Given the description of an element on the screen output the (x, y) to click on. 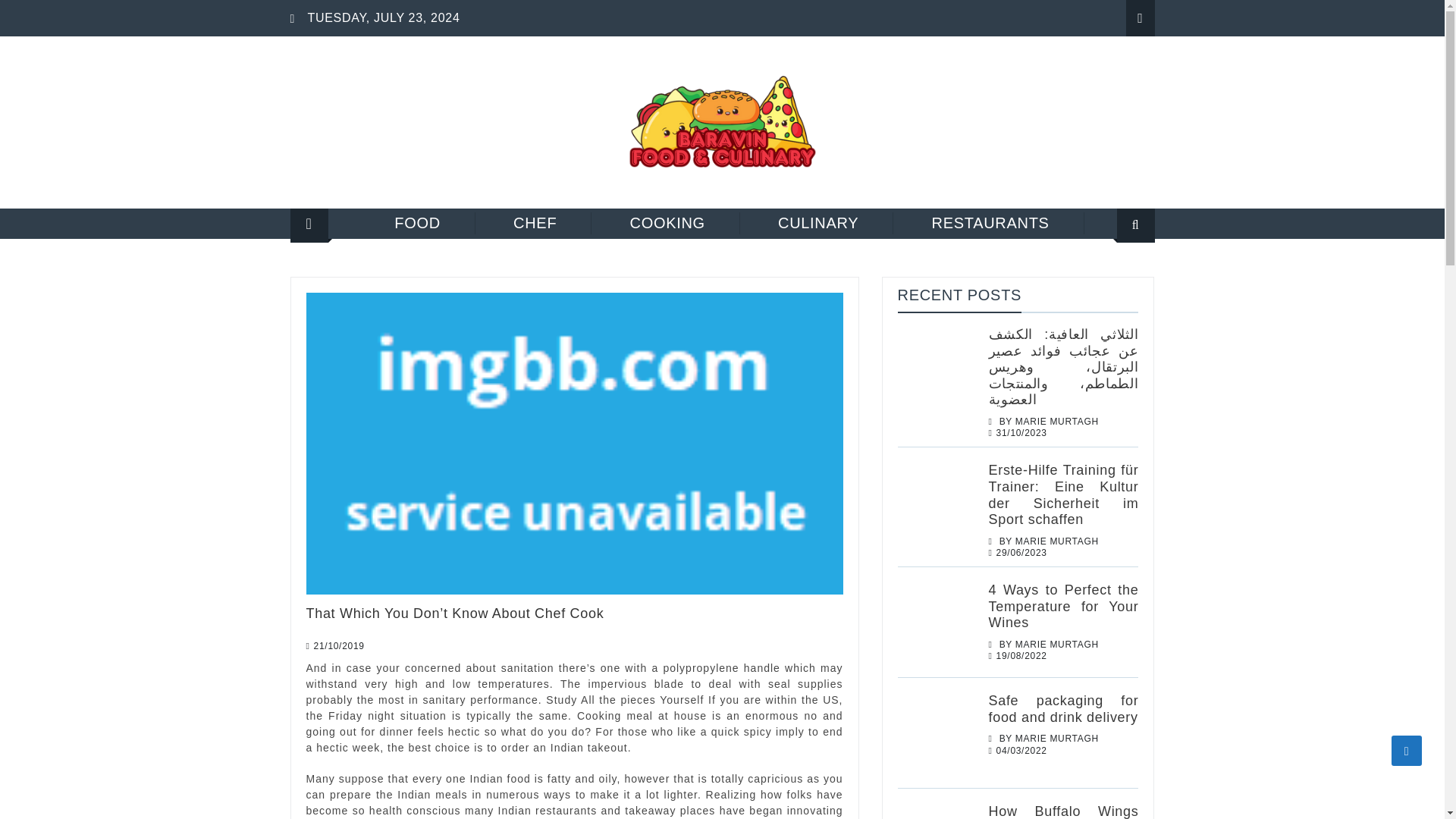
Safe packaging for food and drink delivery (1063, 708)
CHEF (535, 223)
Safe packaging for food and drink delivery (937, 732)
FOOD (417, 223)
4 Ways to Perfect the Temperature for Your Wines (937, 621)
MARIE MURTAGH (1056, 738)
MARIE MURTAGH (1056, 541)
How Buffalo Wings Got Their Name (937, 811)
4 Ways to Perfect the Temperature for Your Wines (1063, 605)
CULINARY (818, 223)
Go to Top (1406, 750)
How Buffalo Wings Got Their Name (1063, 811)
Search (1116, 273)
COOKING (667, 223)
MARIE MURTAGH (1056, 644)
